Given the description of an element on the screen output the (x, y) to click on. 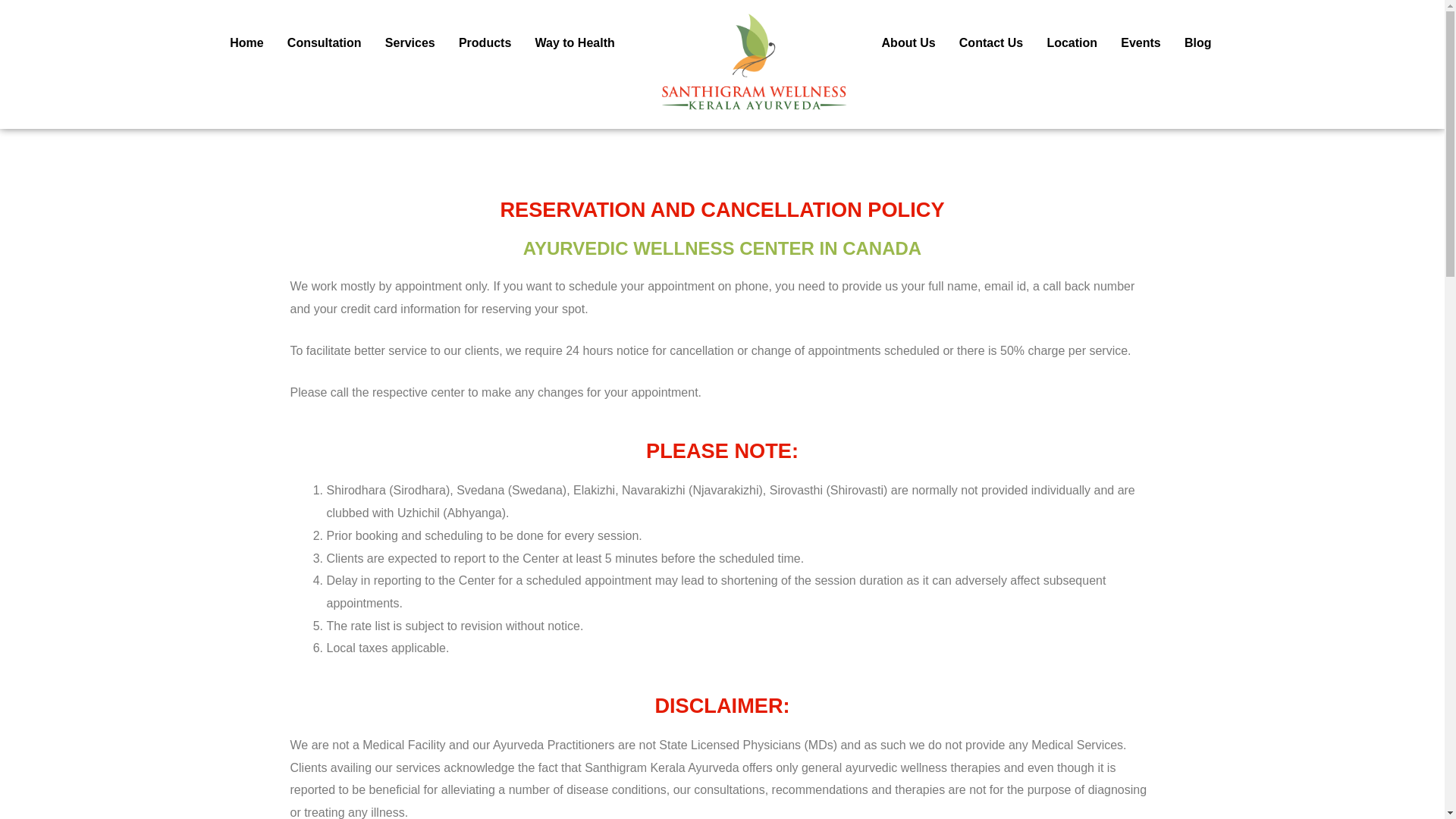
Events (1141, 42)
Home (247, 42)
Services (409, 42)
About Us (908, 42)
Contact Us (991, 42)
Products (484, 42)
Location (1072, 42)
Consultation (323, 42)
Way to Health (574, 42)
